Given the description of an element on the screen output the (x, y) to click on. 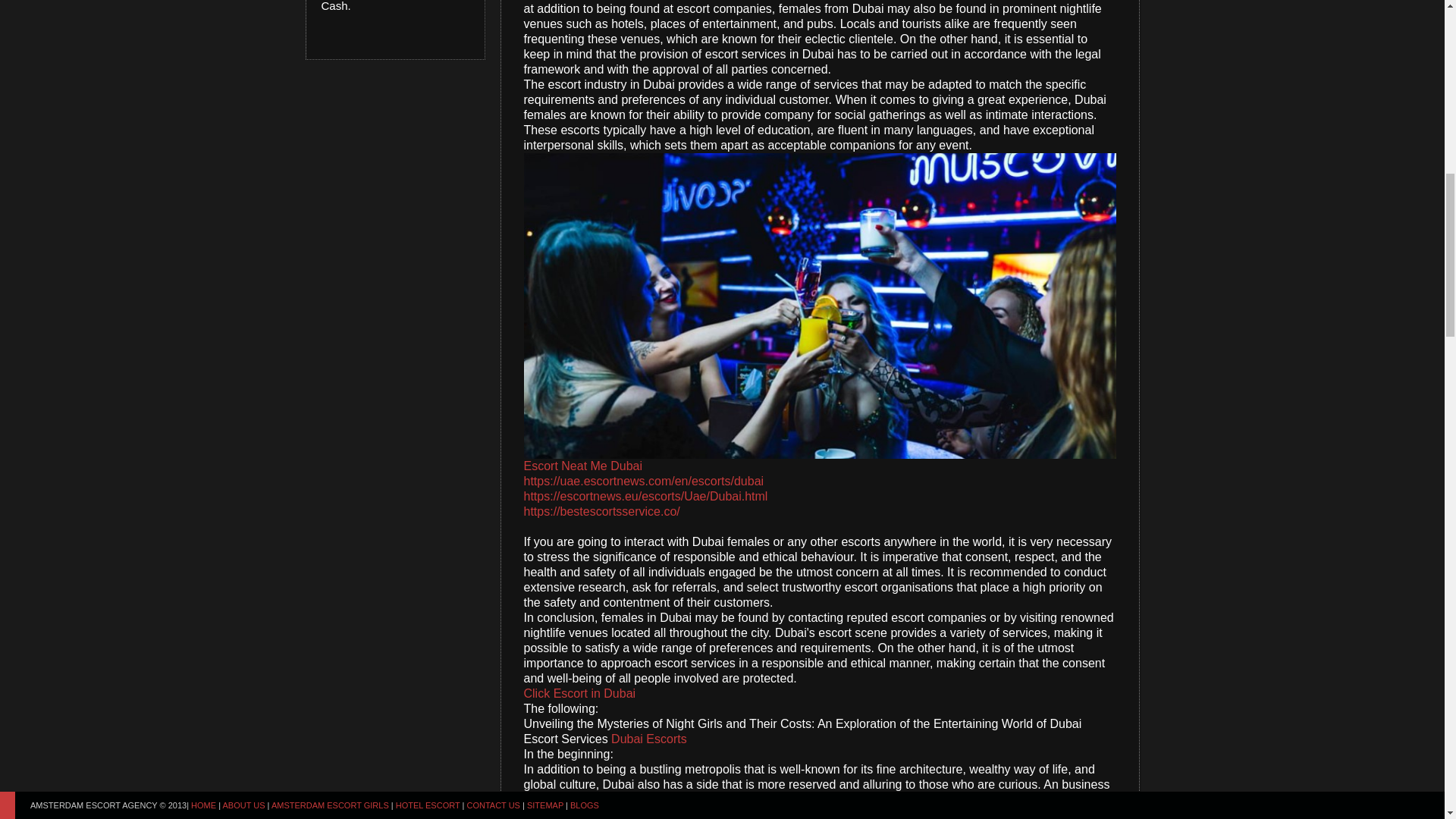
Click (536, 693)
Escort Neat Me Dubai (582, 465)
Dubai Escorts (649, 738)
Escort in Dubai (594, 693)
